Given the description of an element on the screen output the (x, y) to click on. 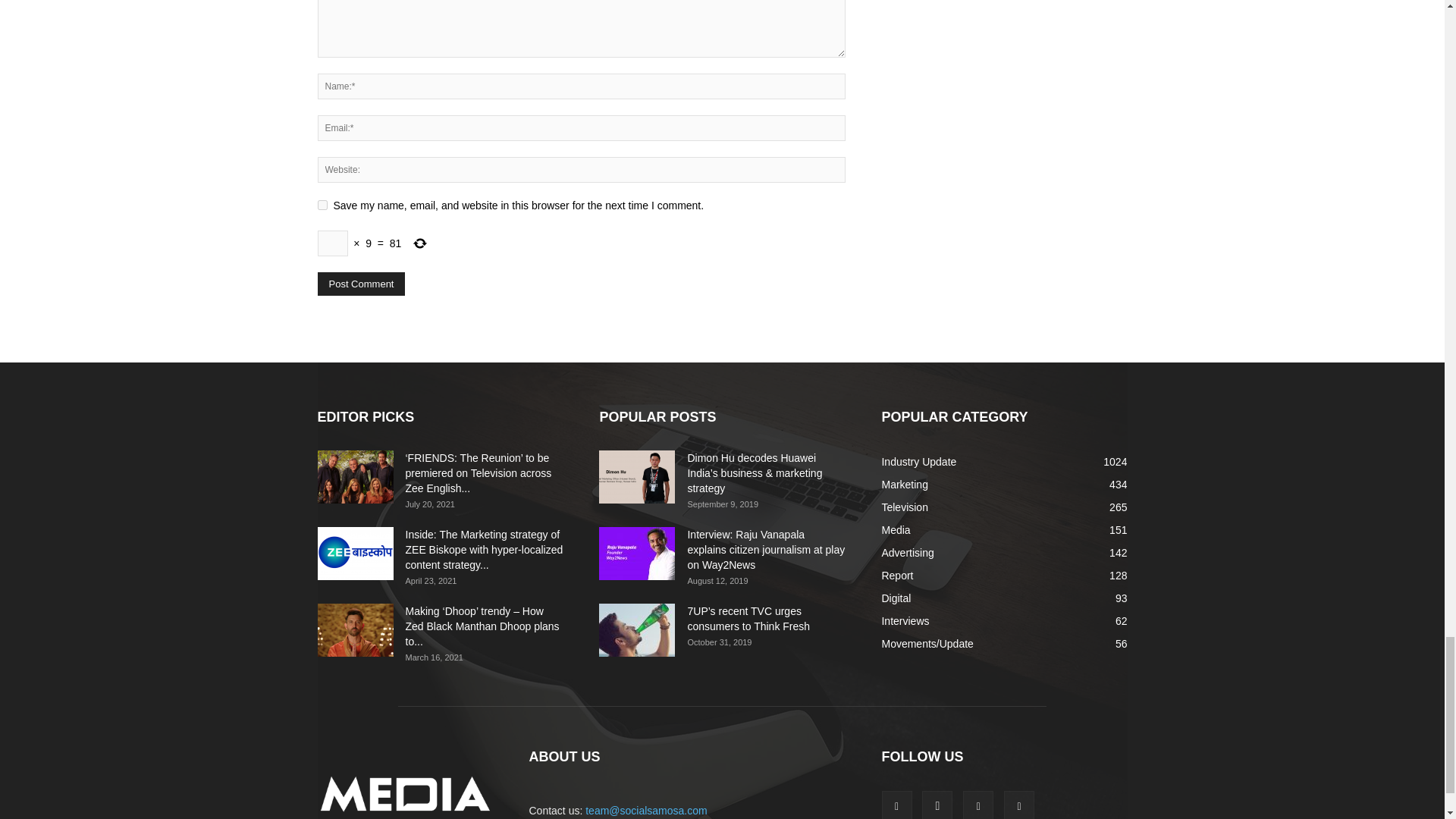
Post Comment (360, 283)
yes (321, 204)
